Given the description of an element on the screen output the (x, y) to click on. 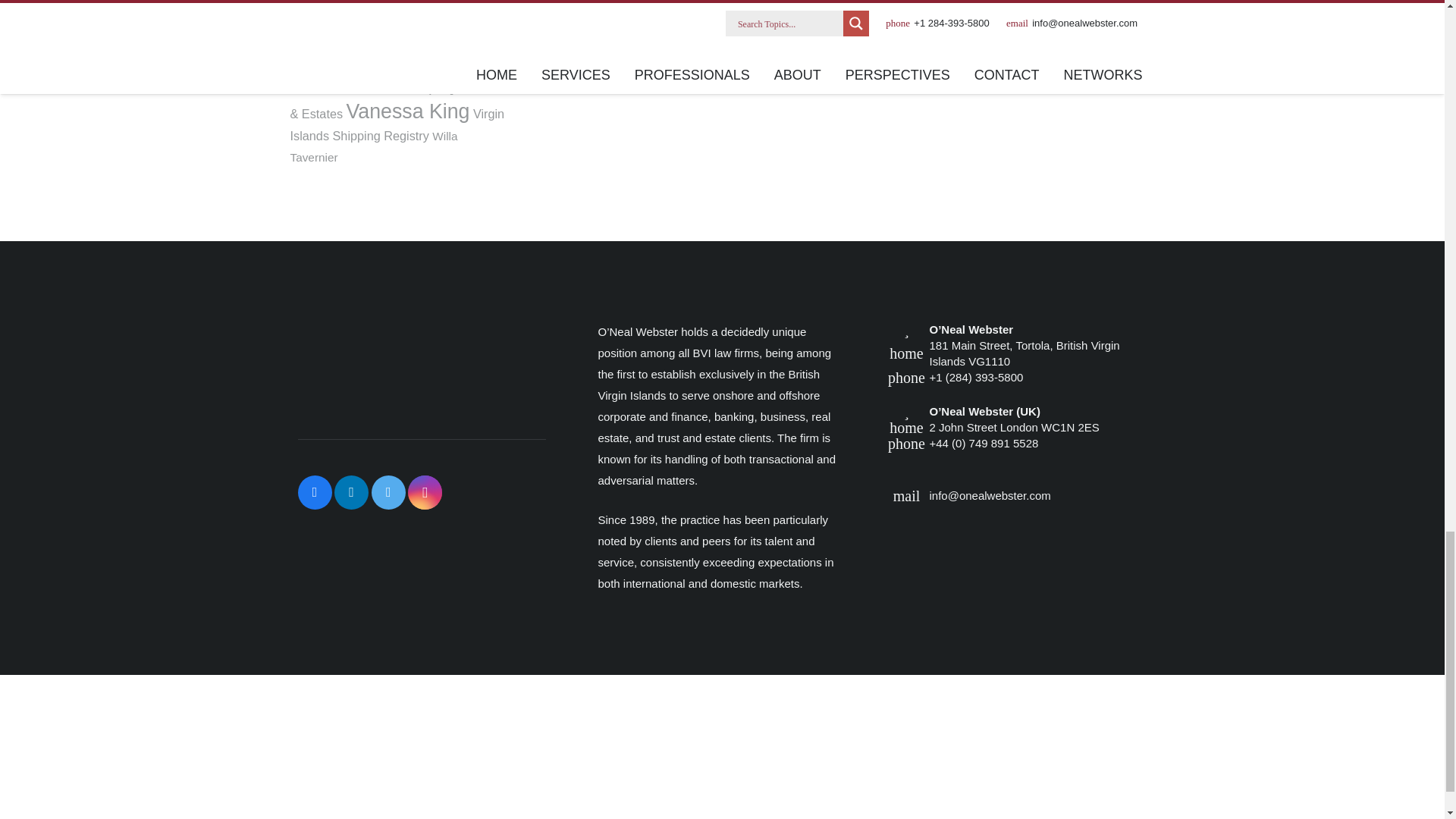
LinkedIn (351, 492)
Twitter (388, 492)
Instagram (424, 492)
Facebook (314, 492)
